Given the description of an element on the screen output the (x, y) to click on. 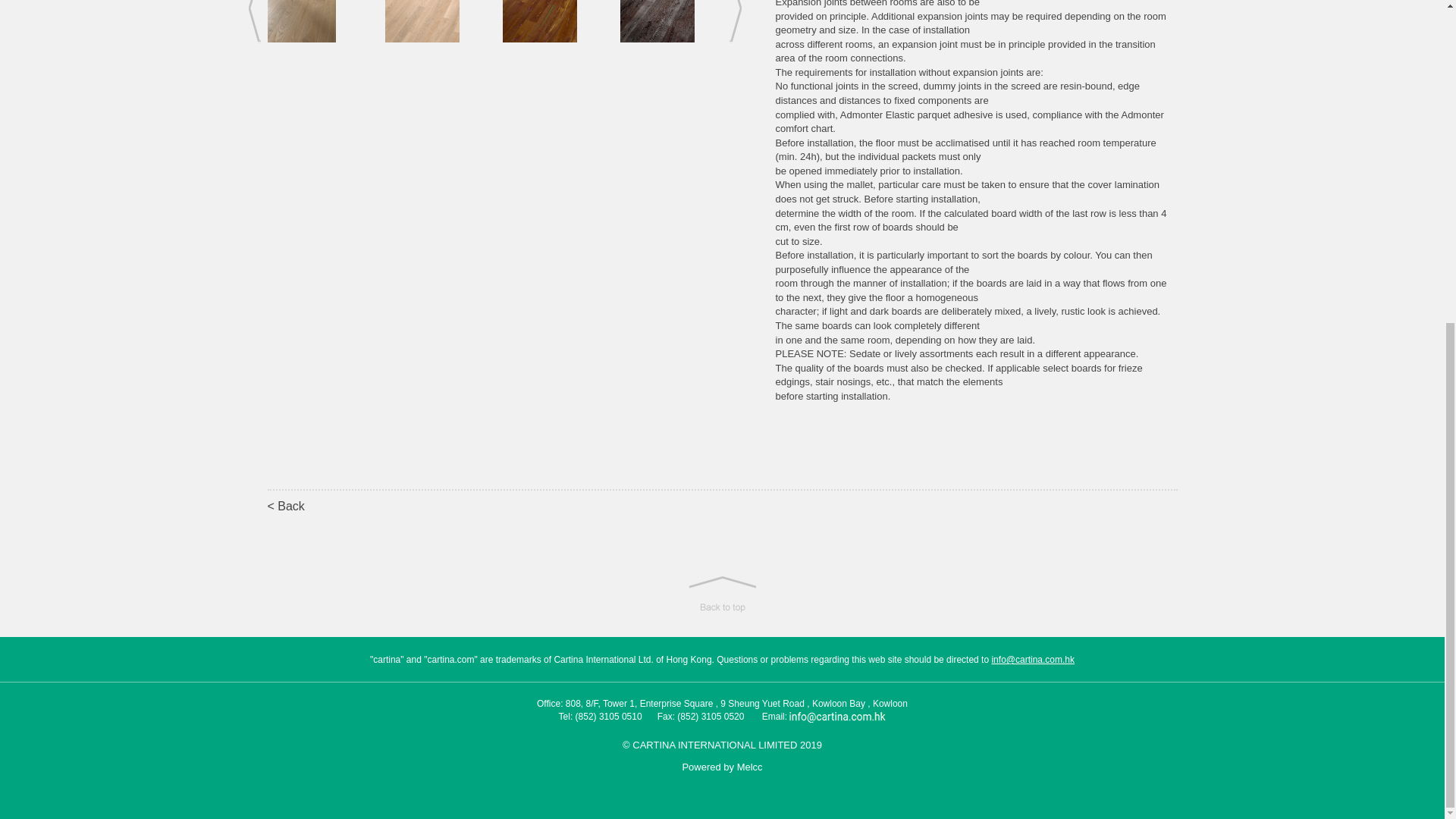
Next (735, 21)
Click to return on the top page (721, 594)
Melcc (749, 767)
Prev (254, 21)
